Given the description of an element on the screen output the (x, y) to click on. 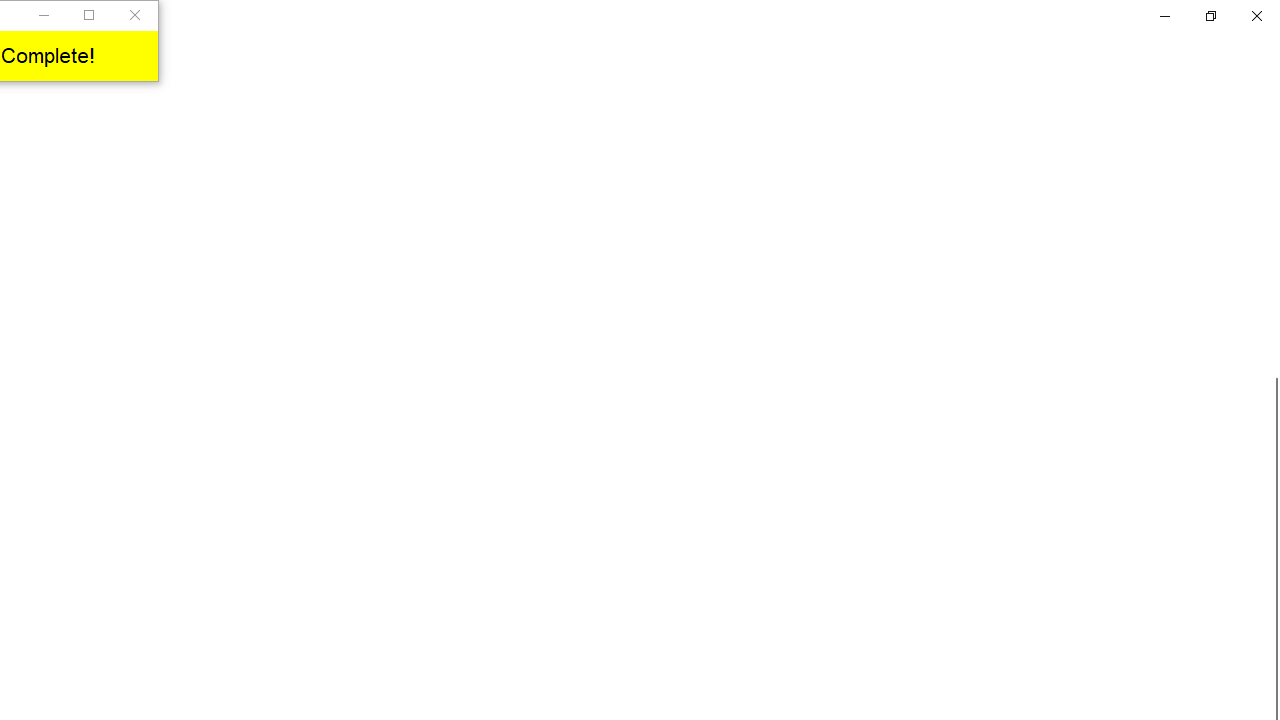
Minimize Settings (1164, 15)
Restore Settings (1210, 15)
Close Settings (1256, 15)
Vertical Large Decrease (1272, 245)
Vertical Small Decrease (1272, 103)
